Given the description of an element on the screen output the (x, y) to click on. 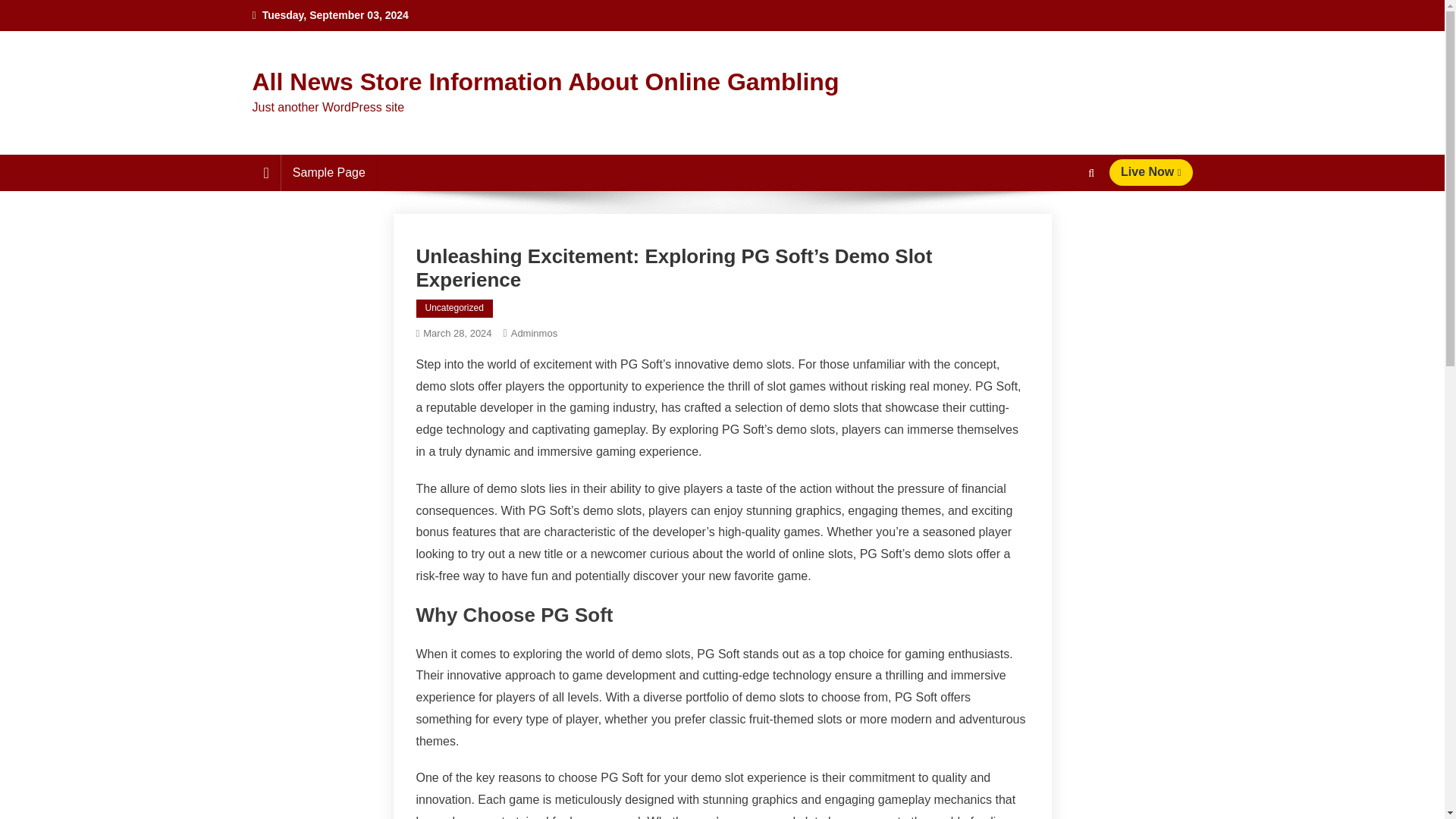
Live Now (1150, 171)
Uncategorized (453, 308)
Search (1062, 227)
Sample Page (329, 172)
March 28, 2024 (457, 333)
Adminmos (534, 333)
All News Store Information About Online Gambling (544, 81)
